Given the description of an element on the screen output the (x, y) to click on. 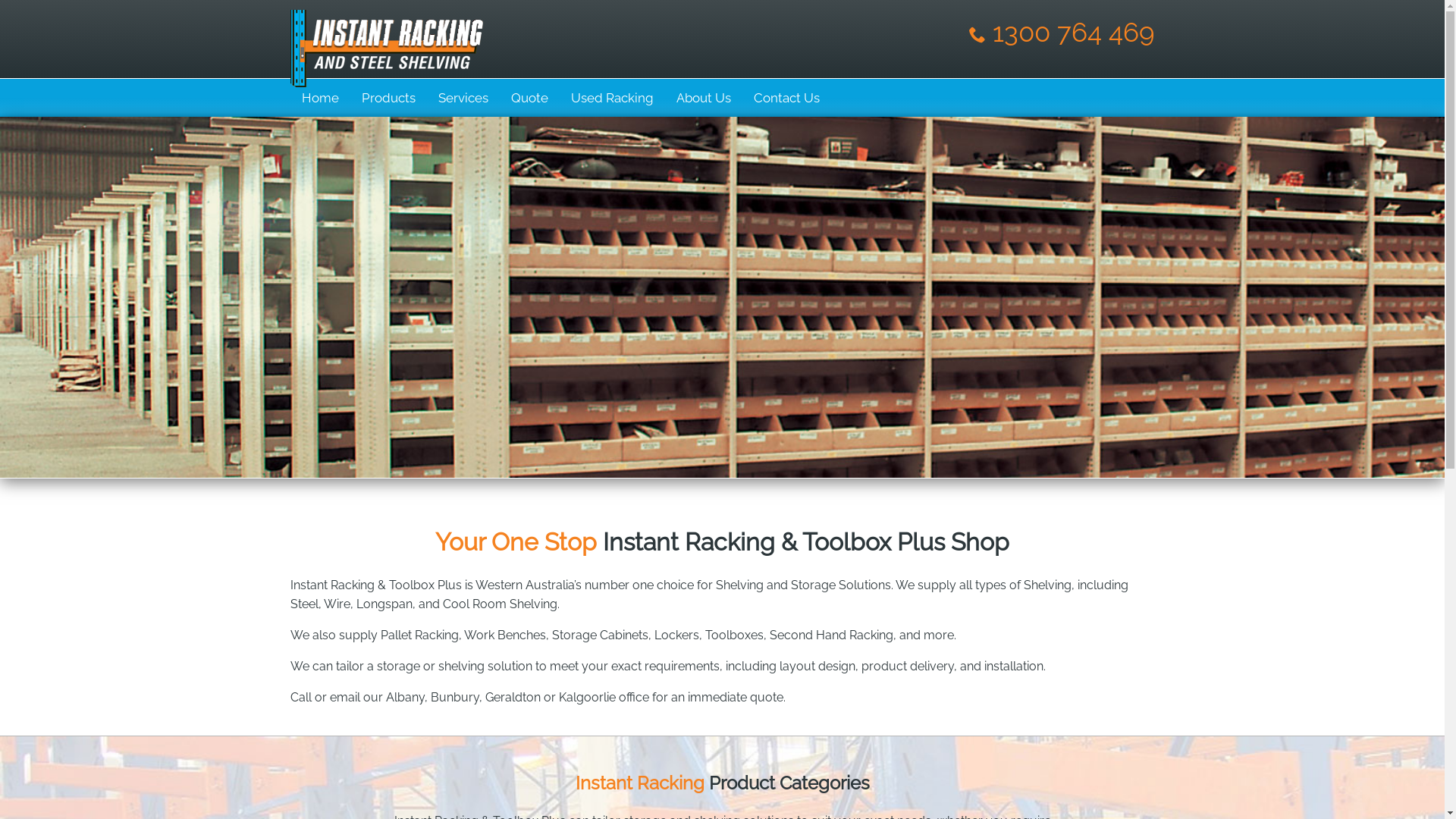
Quote Element type: text (528, 97)
Products Element type: text (388, 97)
Services Element type: text (462, 97)
Home Element type: text (319, 97)
Contact Us Element type: text (785, 97)
About Us Element type: text (702, 97)
Instant Racking Element type: hover (385, 74)
Used Racking Element type: text (612, 97)
